Given the description of an element on the screen output the (x, y) to click on. 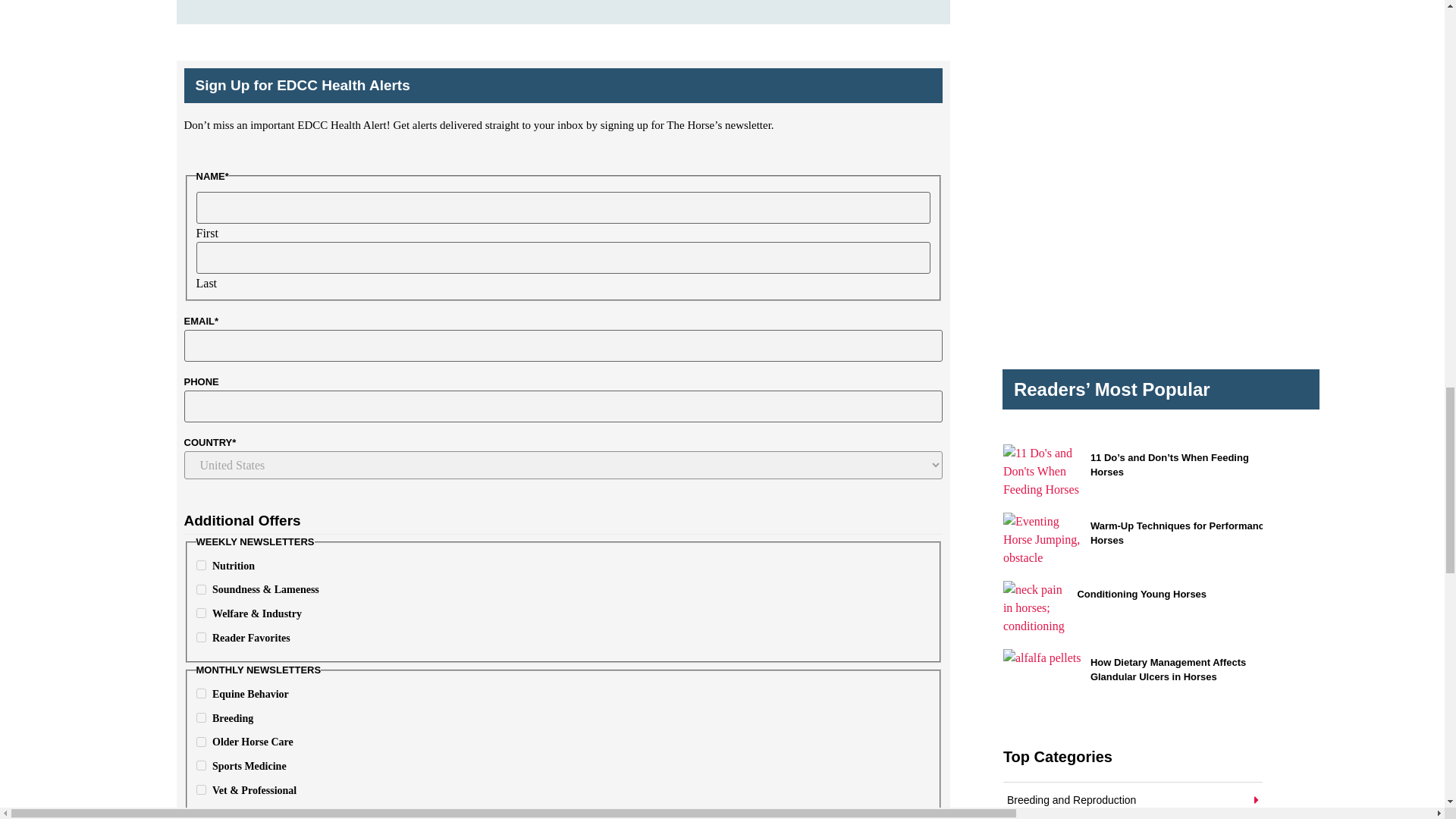
92268b6e-58b0-456d-94c1-785473209022 (200, 565)
3a08d43c-beca-4f24-a981-a4042e299d20 (200, 765)
36bec67c-a959-4c8f-9644-720e32f5612b (200, 589)
f1a9b827-3800-48df-a849-77da67b103c0 (200, 693)
a0b89925-2738-4739-a3d6-f5df249f34db (200, 717)
20a15530-0fcc-4015-ba01-39e405ffd411 (200, 789)
a3e9cbf7-c6b5-4365-9e44-1bfb40752d16 (200, 741)
b7a42f2b-787d-4239-99f2-acdee53c8711 (200, 637)
2ff375d6-b231-4823-8397-0b3d0a4dc6d8 (200, 613)
